Given the description of an element on the screen output the (x, y) to click on. 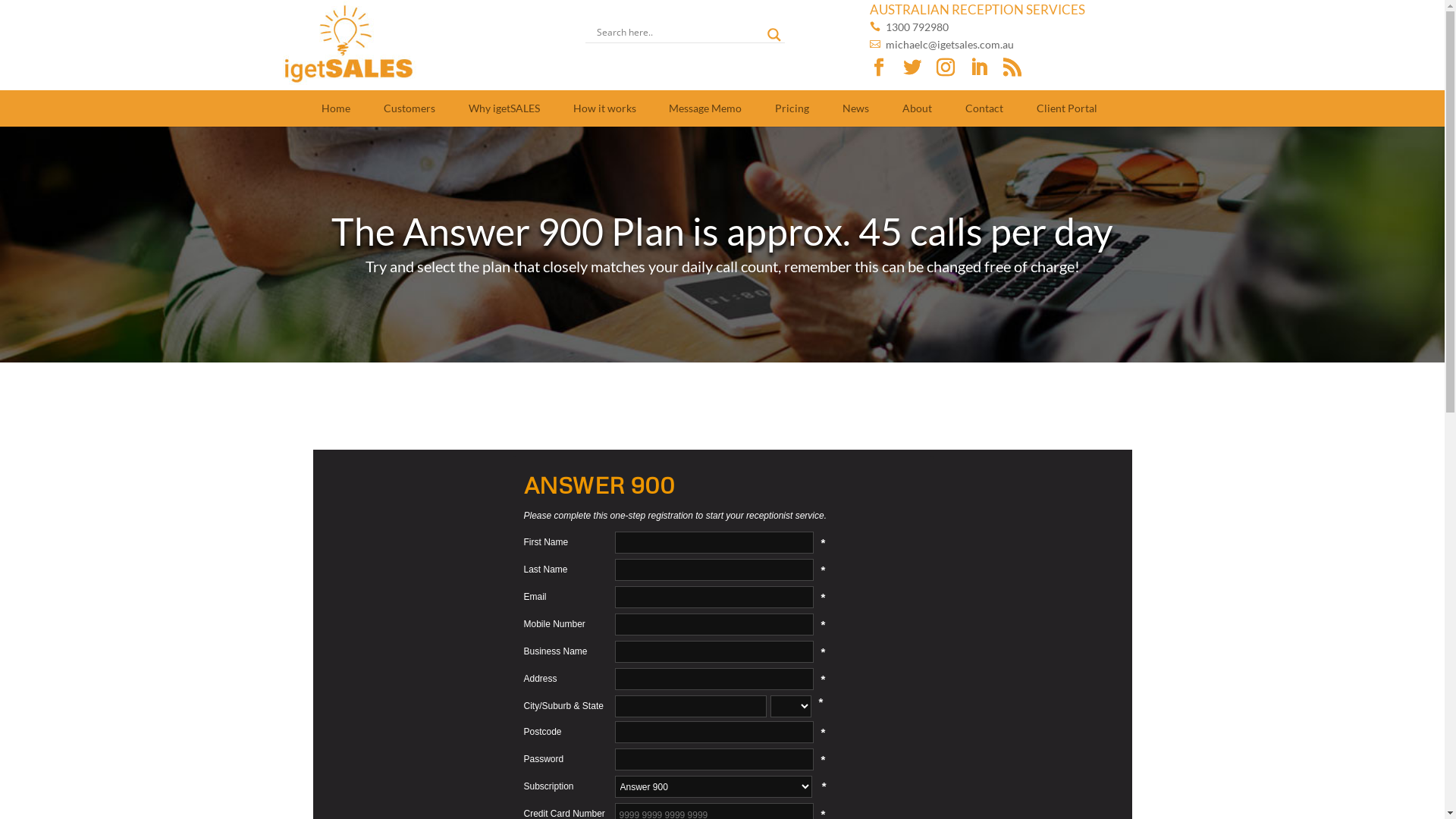
How it works Element type: text (603, 108)
Home Element type: text (335, 108)
News Element type: text (855, 108)
Message Memo Element type: text (705, 108)
Client Portal Element type: text (1066, 108)
Contact Element type: text (984, 108)
Customers Element type: text (408, 108)
Pricing Element type: text (792, 108)
Why igetSALES Element type: text (503, 108)
About Element type: text (917, 108)
